Given the description of an element on the screen output the (x, y) to click on. 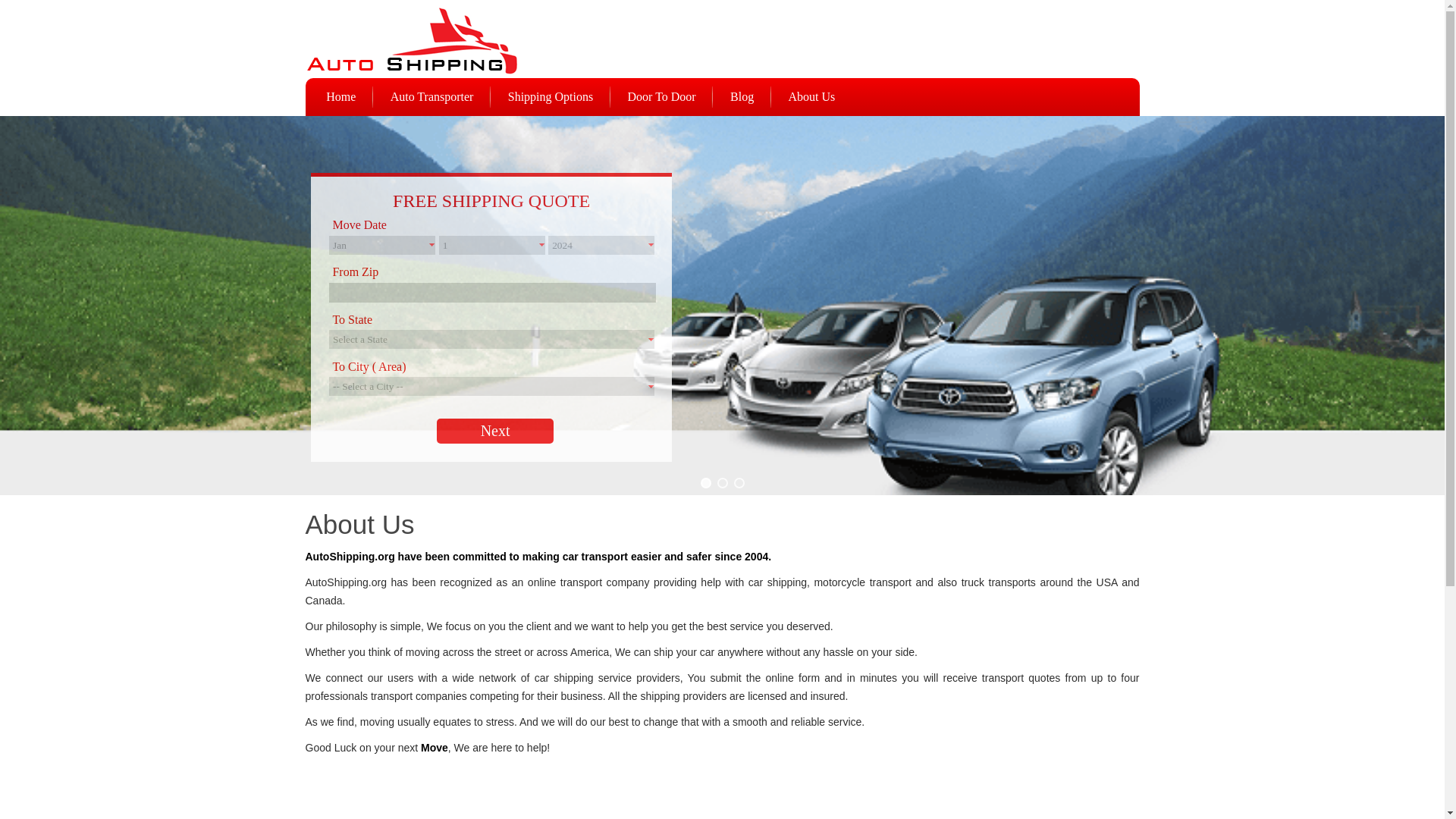
Shipping Options (550, 96)
Door To Door (661, 96)
Home (340, 96)
Next (494, 430)
About Us (812, 96)
Auto Transporter (432, 96)
Blog (742, 96)
Next (494, 430)
